Given the description of an element on the screen output the (x, y) to click on. 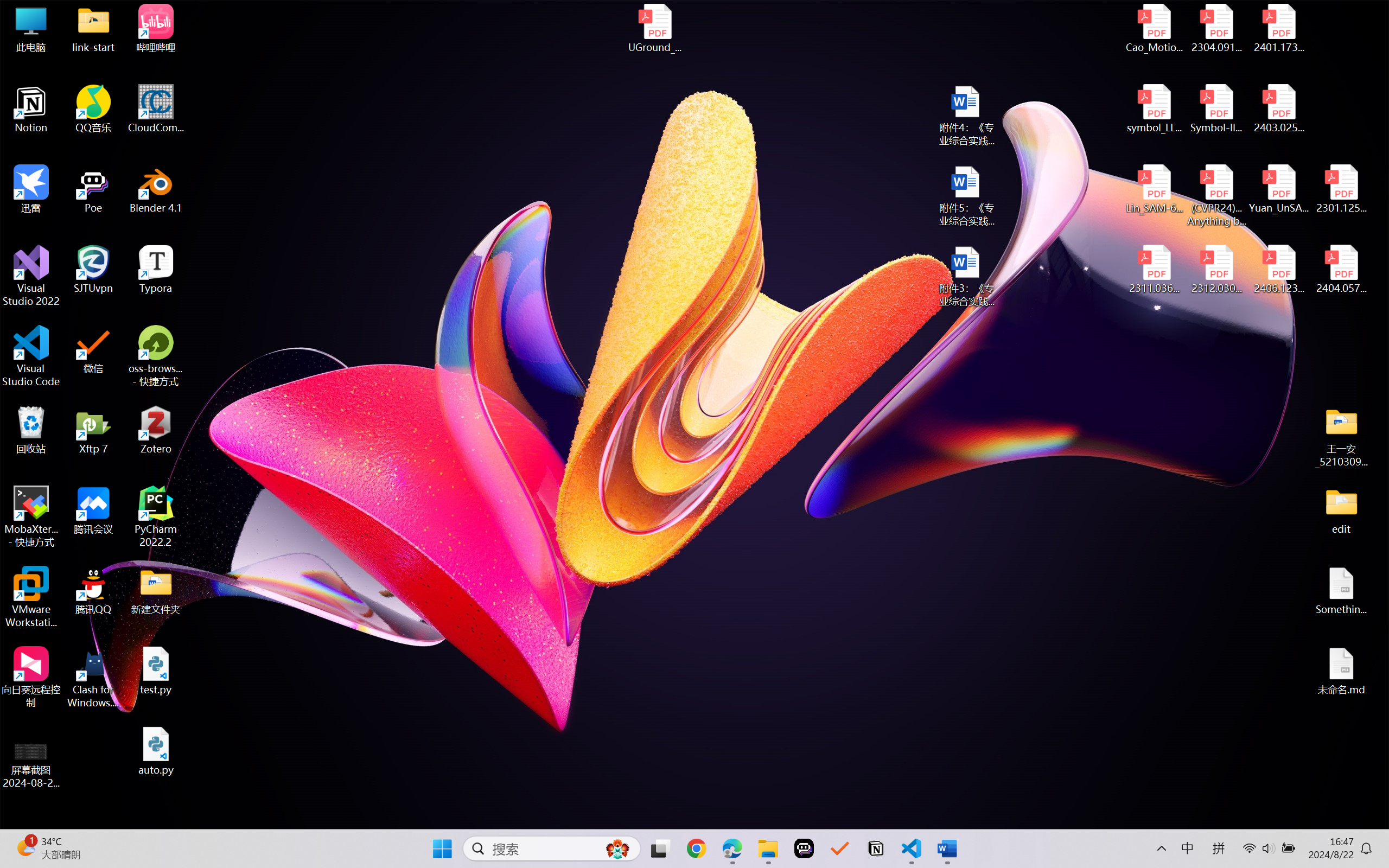
Can't Repeat (184, 19)
